Given the description of an element on the screen output the (x, y) to click on. 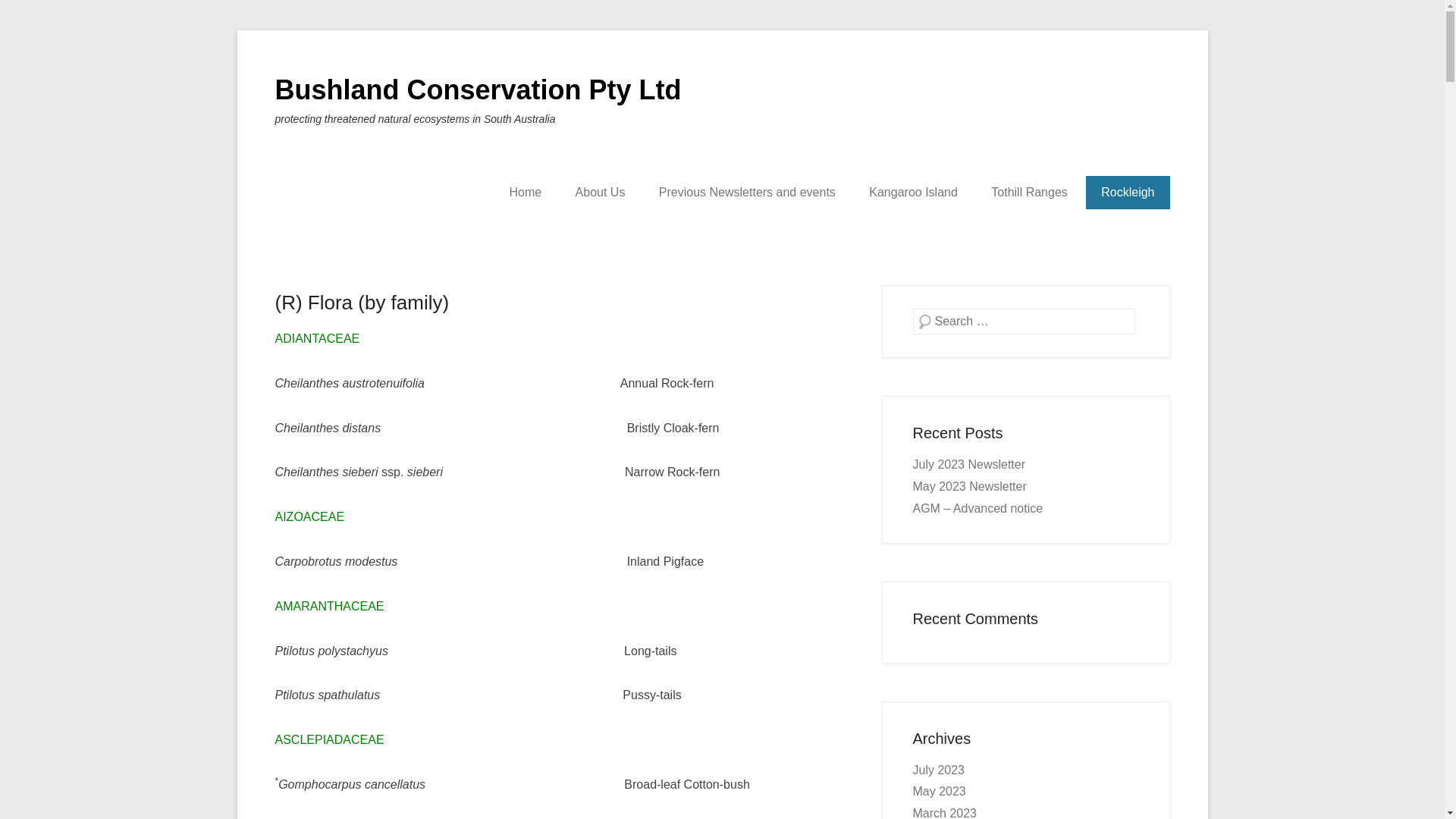
(R) Flora (by family) Element type: text (361, 302)
Search Element type: text (32, 15)
Home Element type: text (524, 192)
Rockleigh Element type: text (1127, 192)
Kangaroo Island Element type: text (912, 192)
Previous Newsletters and events Element type: text (746, 192)
About Us Element type: text (600, 192)
July 2023 Newsletter Element type: text (969, 464)
Tothill Ranges Element type: text (1028, 192)
July 2023 Element type: text (939, 769)
May 2023 Newsletter Element type: text (969, 486)
May 2023 Element type: text (939, 790)
Bushland Conservation Pty Ltd Element type: text (477, 89)
